Given the description of an element on the screen output the (x, y) to click on. 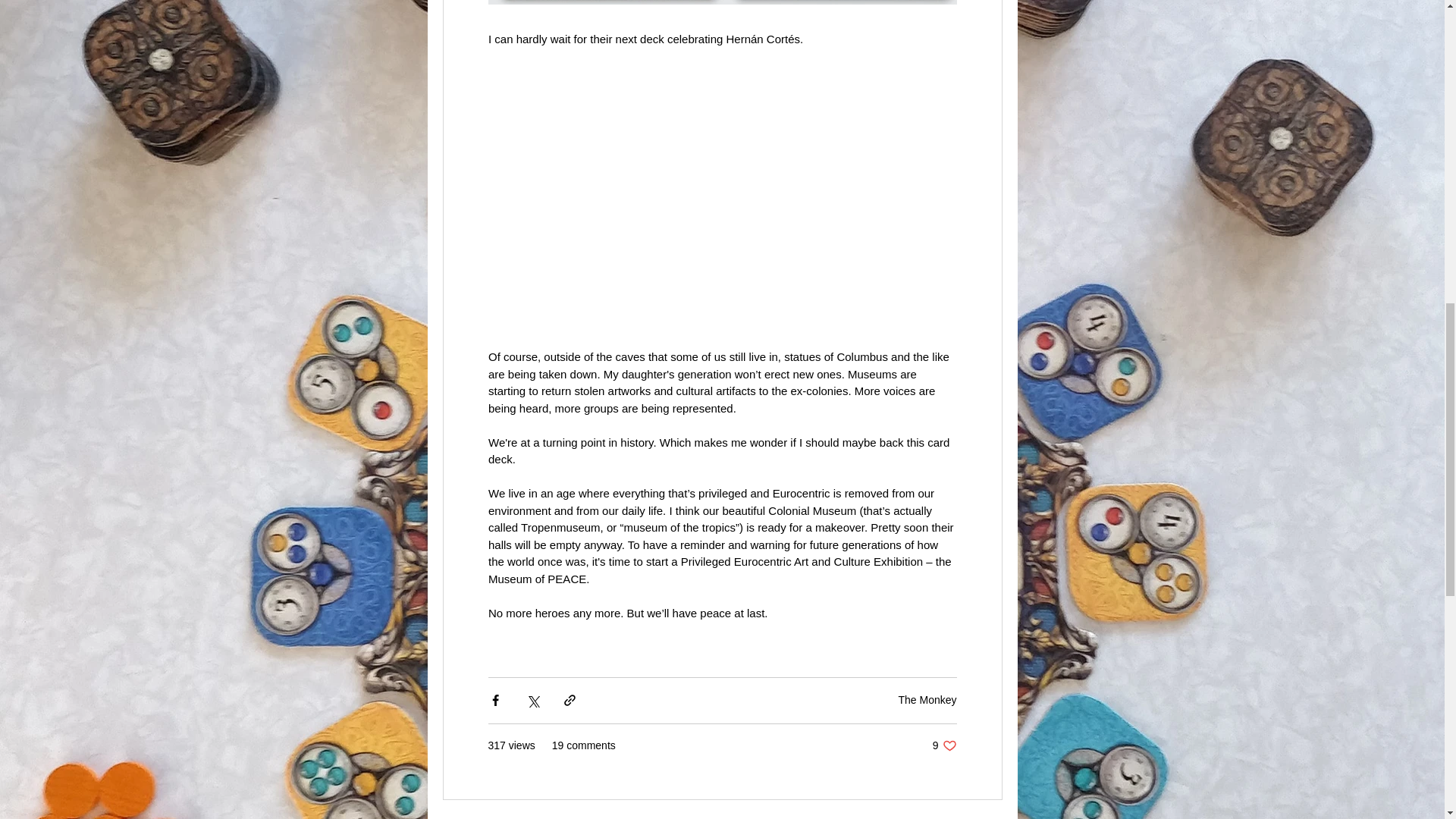
See All (986, 818)
The Monkey (927, 699)
